Given the description of an element on the screen output the (x, y) to click on. 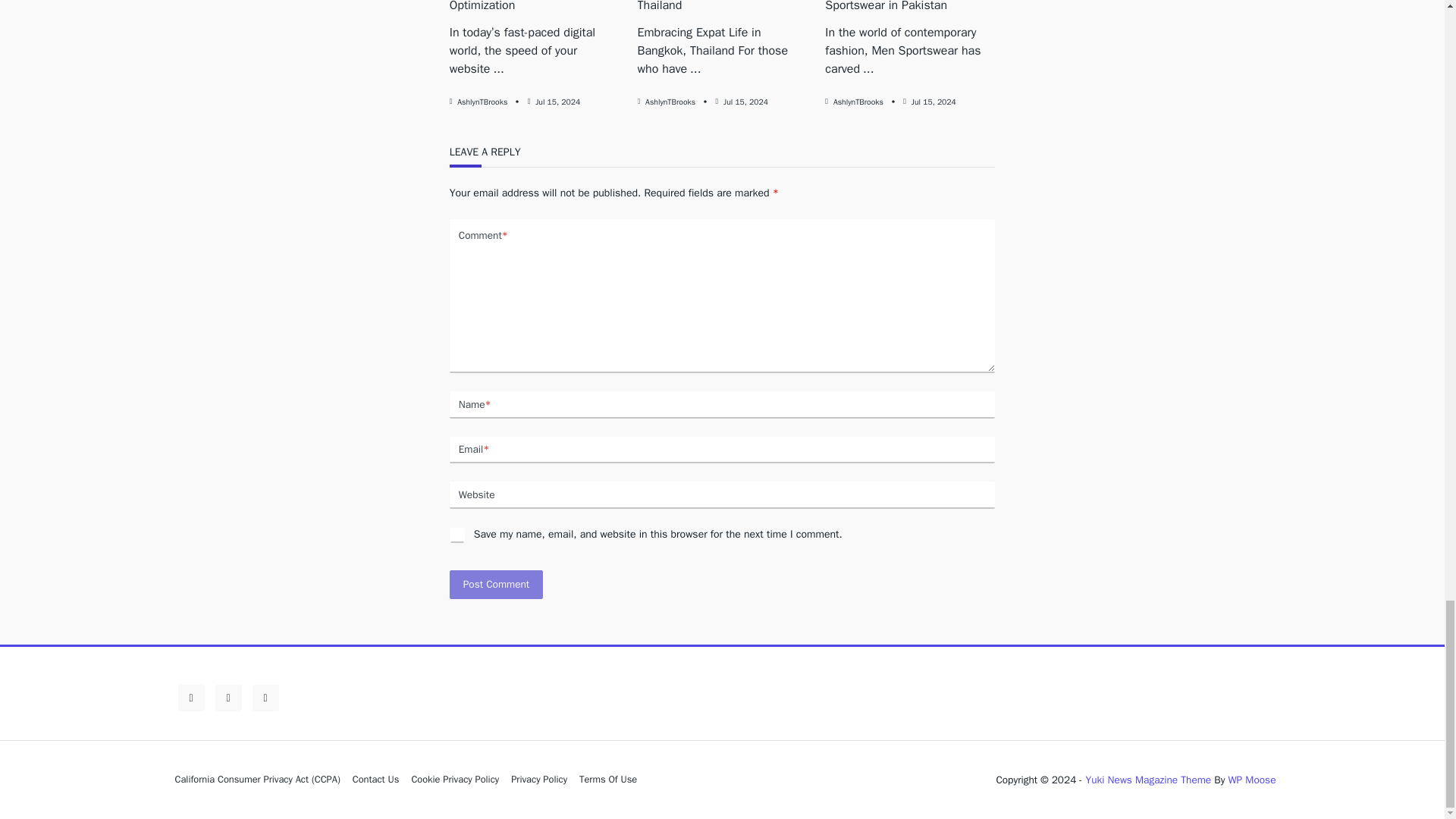
yes (456, 534)
Post Comment (496, 584)
